Given the description of an element on the screen output the (x, y) to click on. 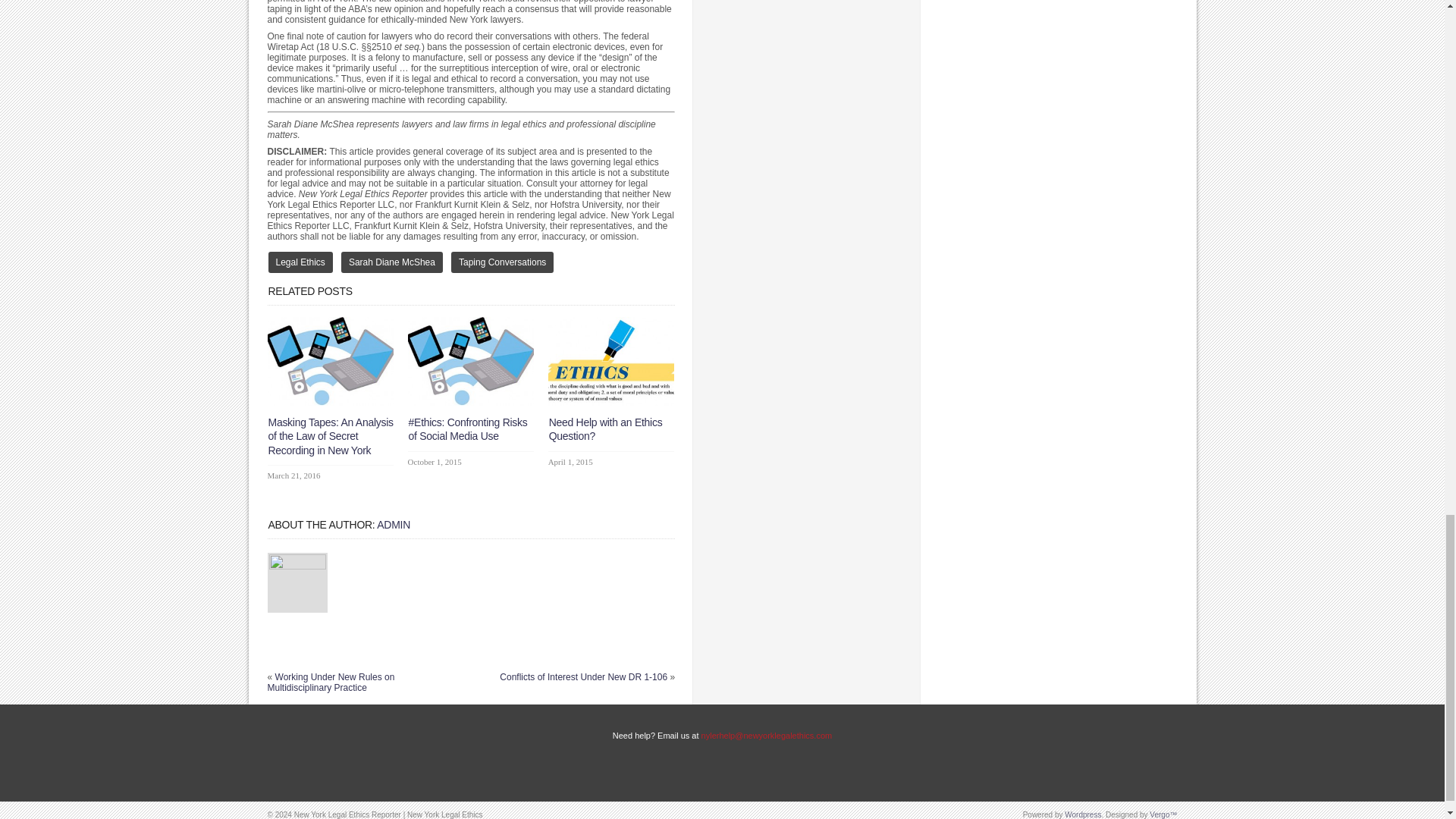
Need Help with an Ethics Question? (605, 429)
ADMIN (393, 524)
Taping Conversations (502, 261)
Need Help with an Ethics Question? (605, 429)
Legal Ethics (300, 261)
Sarah Diane McShea (391, 261)
Posts by admin (393, 524)
Working Under New Rules on Multidisciplinary Practice (330, 681)
Conflicts of Interest Under New DR 1-106 (582, 676)
Need Help with an Ethics Question? (611, 402)
